Given the description of an element on the screen output the (x, y) to click on. 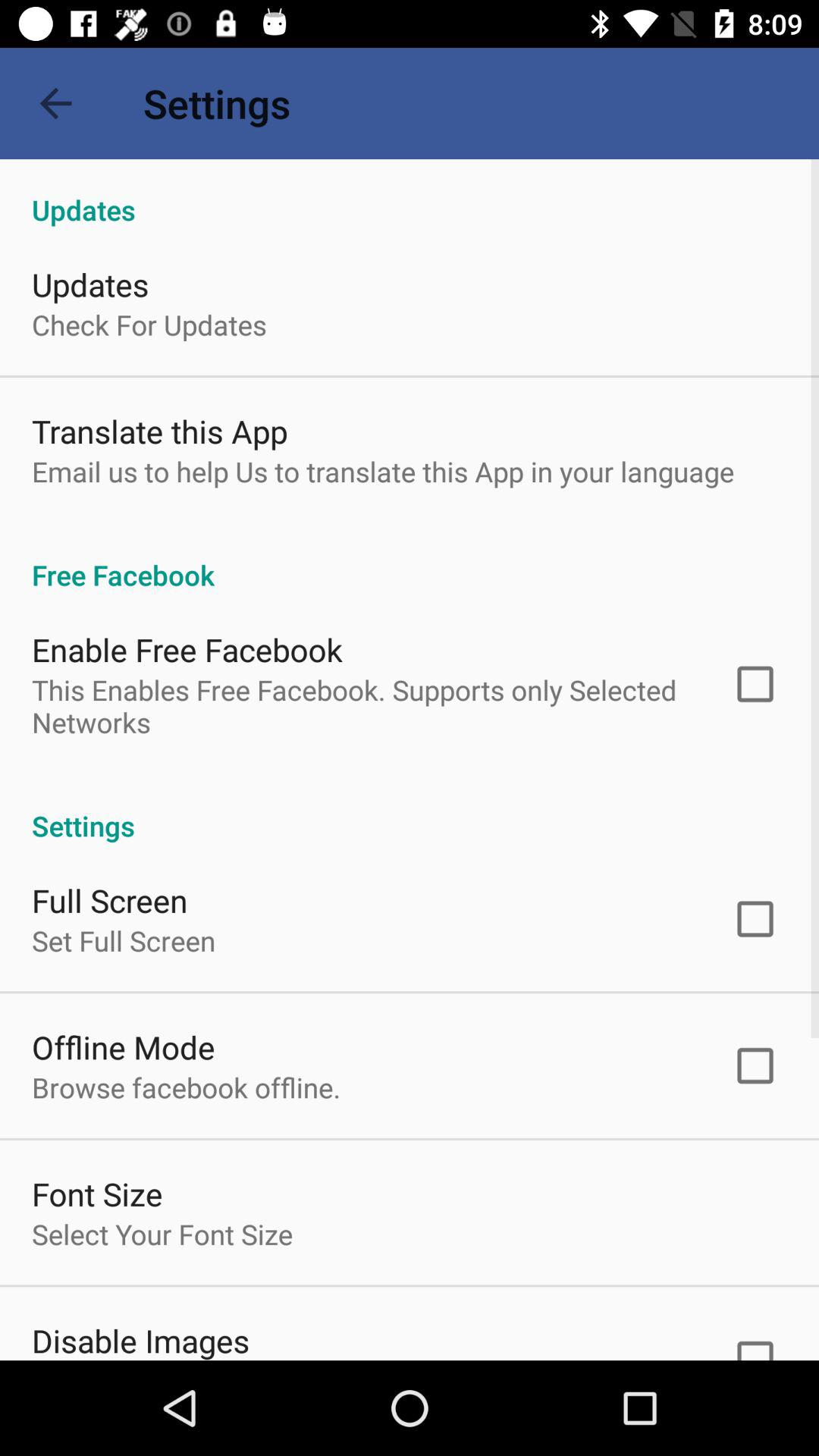
open icon below enable free facebook item (361, 706)
